Given the description of an element on the screen output the (x, y) to click on. 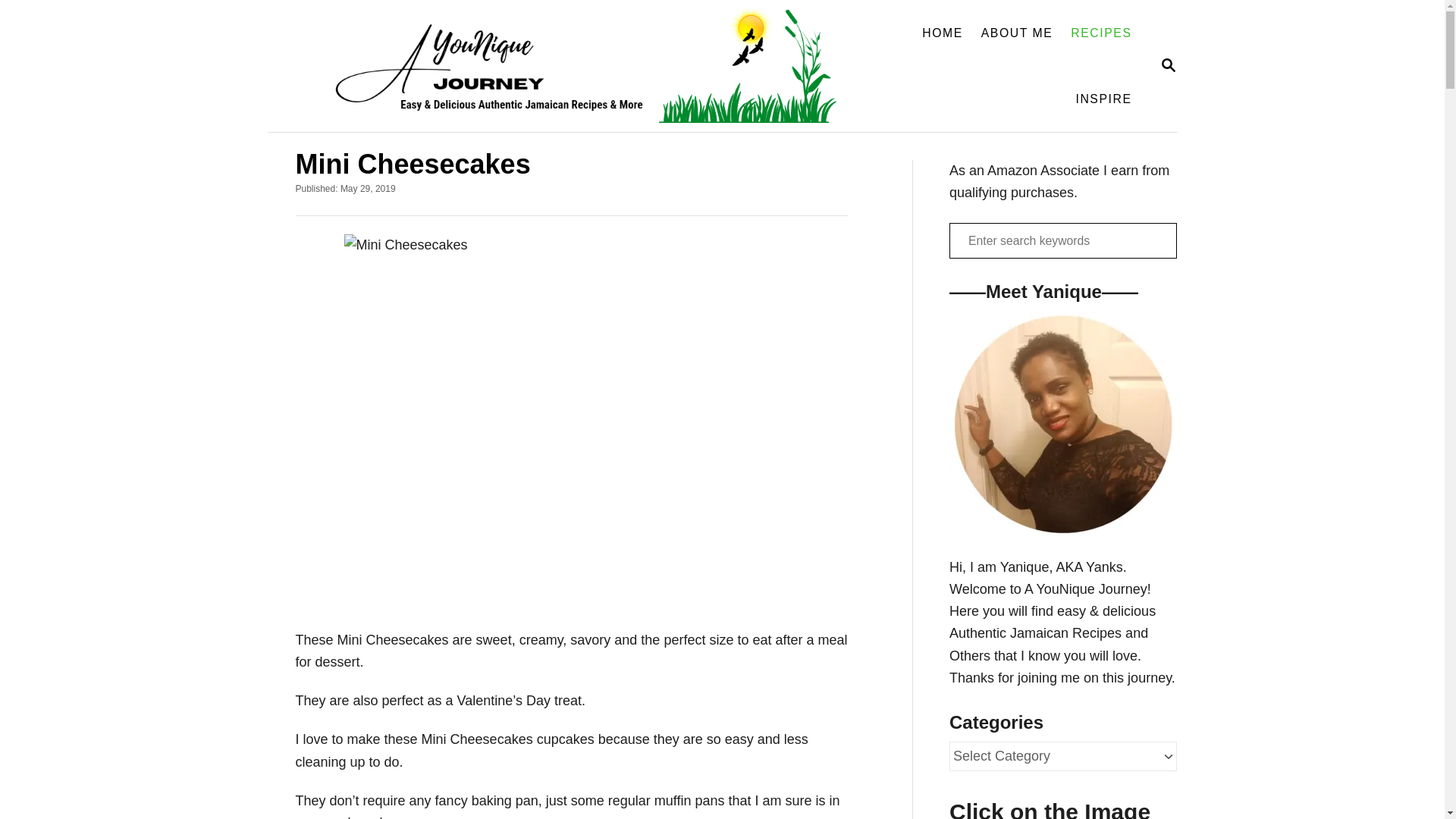
ABOUT ME (1017, 32)
MAGNIFYING GLASS (1167, 65)
Search for: (1062, 240)
A YouNique Journey (566, 65)
INSPIRE (1102, 99)
RECIPES (1100, 32)
HOME (1167, 65)
